Given the description of an element on the screen output the (x, y) to click on. 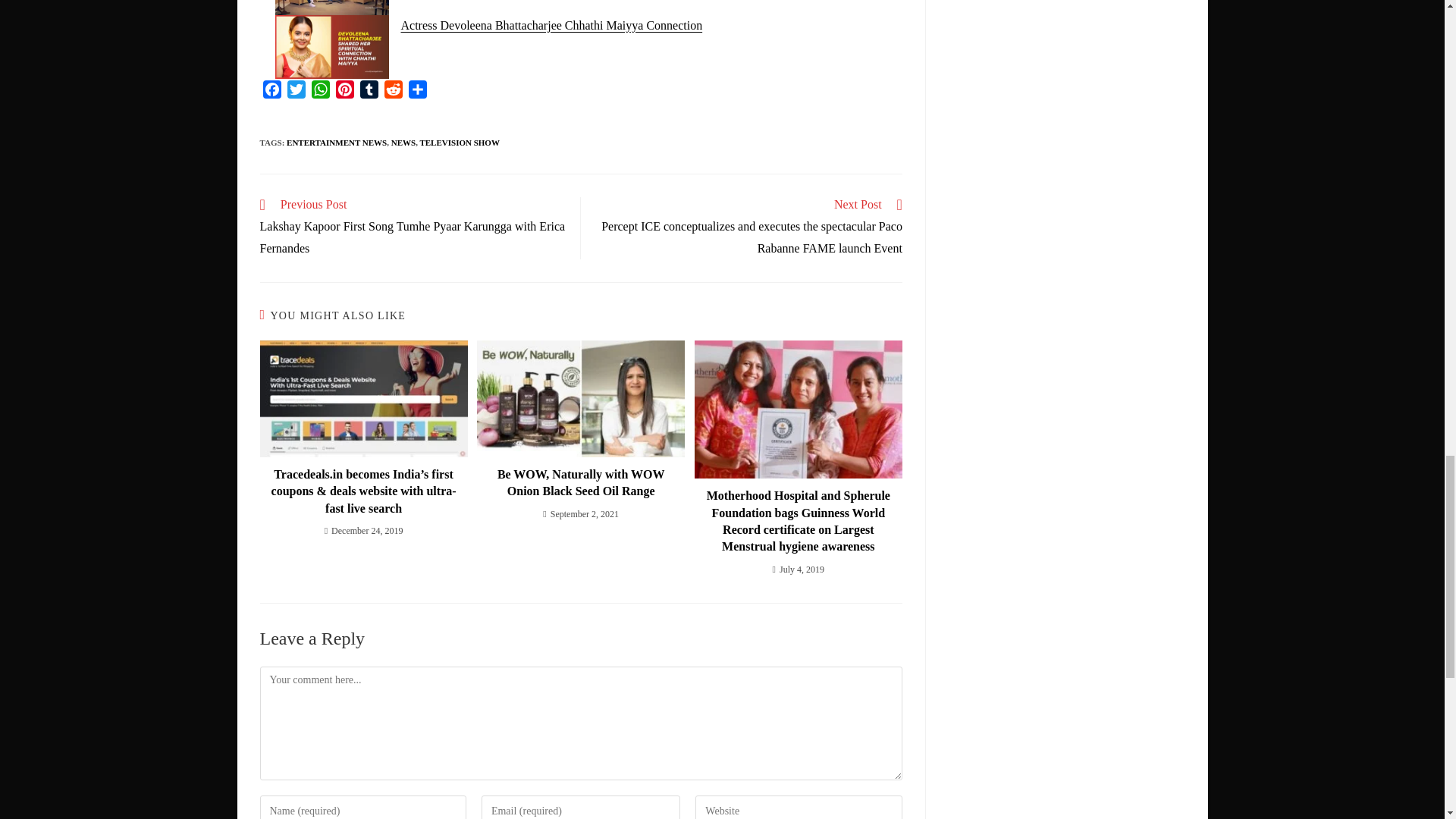
Pinterest (343, 90)
Facebook (271, 90)
WhatsApp (319, 90)
Tumblr (368, 90)
Twitter (295, 90)
